Given the description of an element on the screen output the (x, y) to click on. 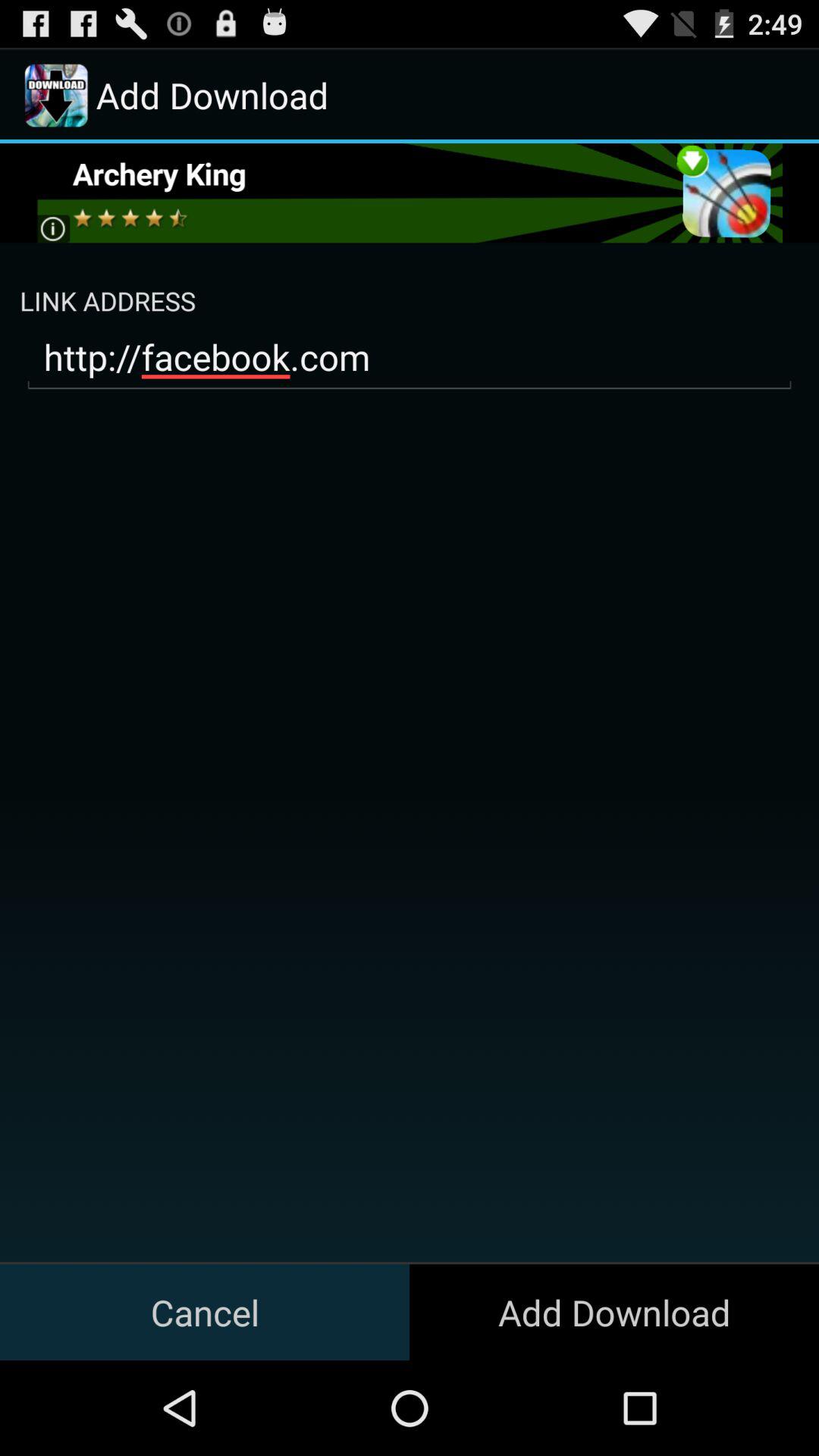
select advertisement (408, 192)
